Given the description of an element on the screen output the (x, y) to click on. 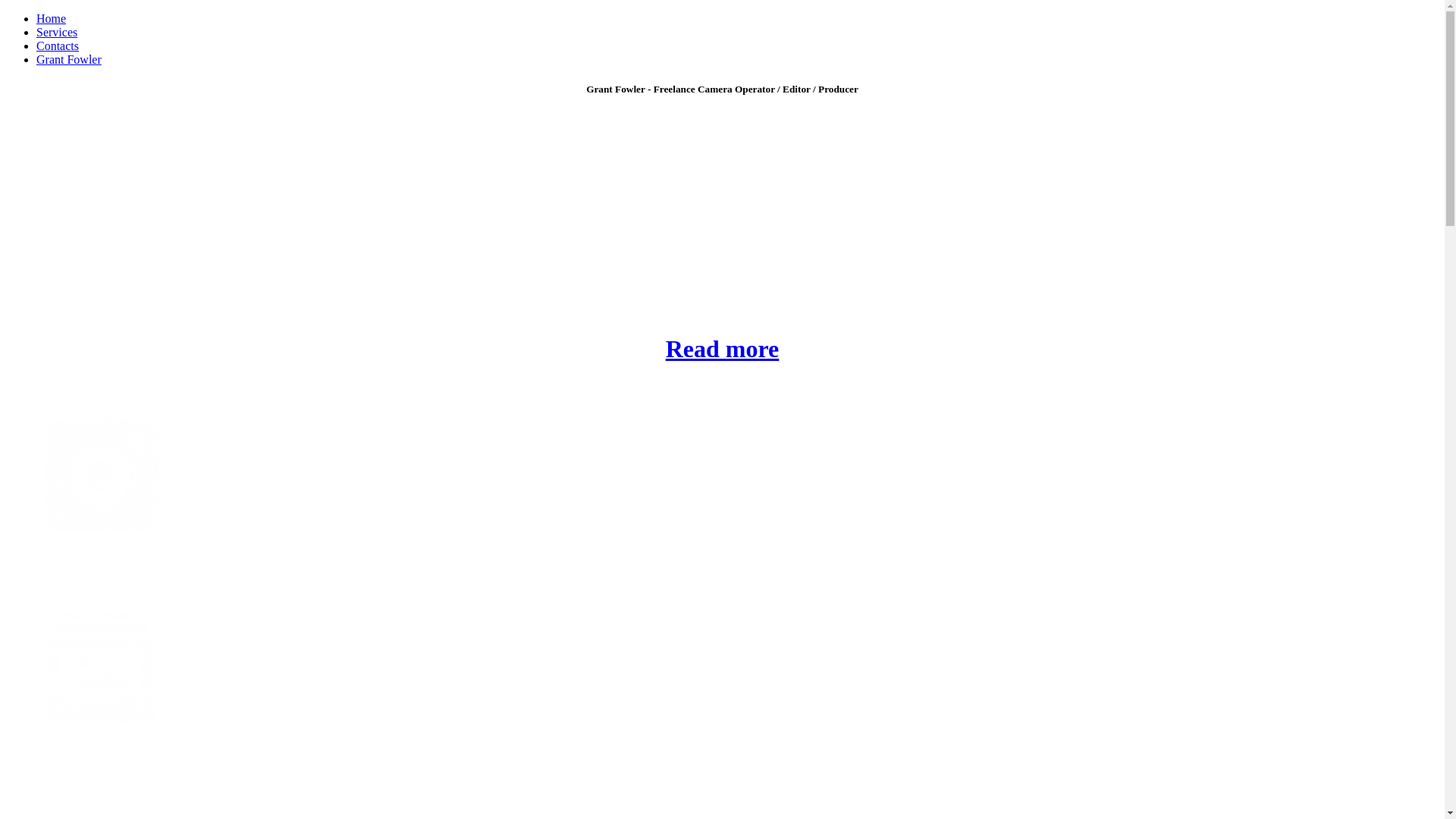
Grant Fowler Element type: text (68, 59)
Home Element type: text (50, 18)
Contacts Element type: text (57, 45)
Read more Element type: text (722, 348)
Services Element type: text (56, 31)
